Given the description of an element on the screen output the (x, y) to click on. 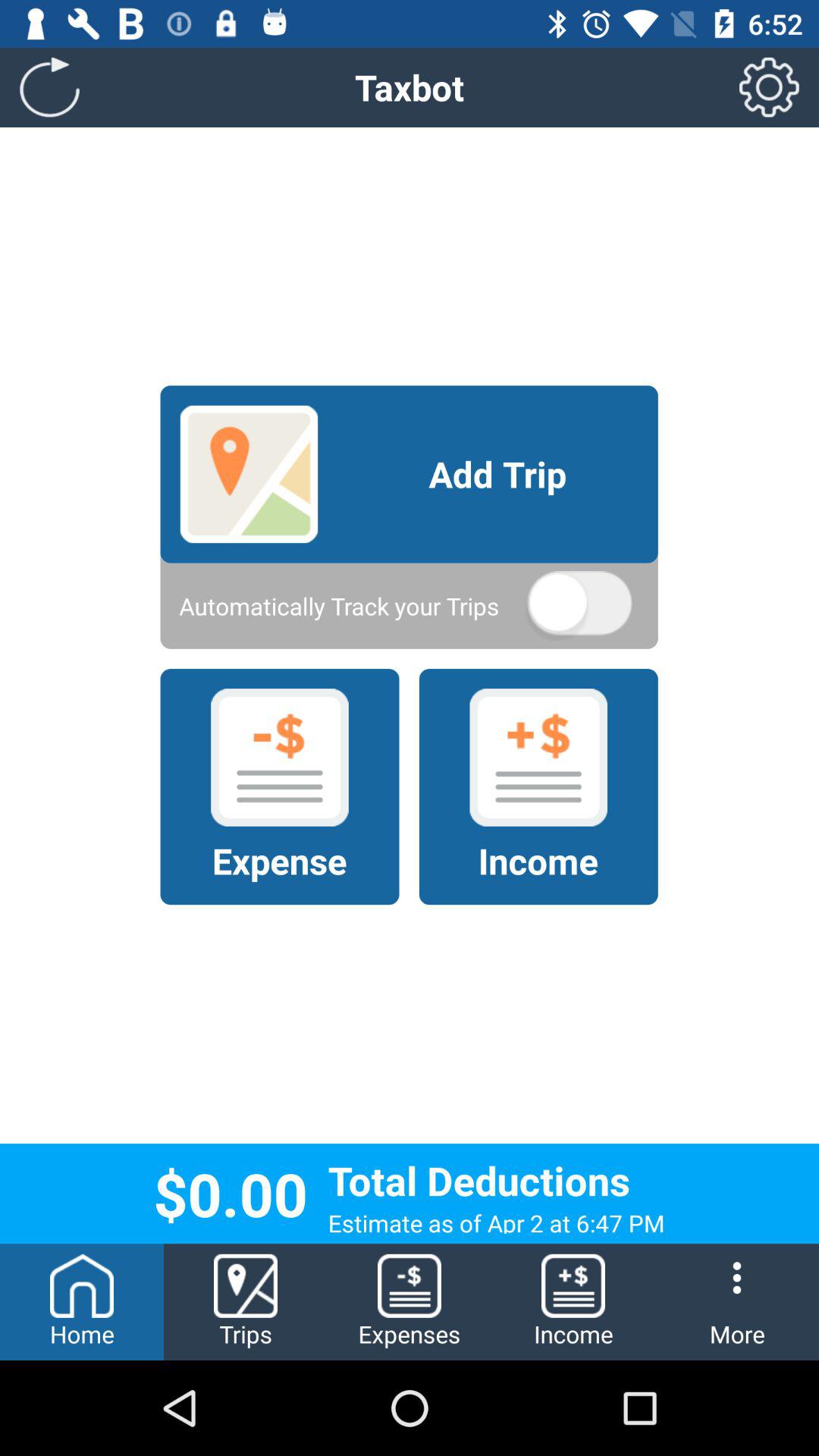
tap icon above the more item (769, 87)
